Given the description of an element on the screen output the (x, y) to click on. 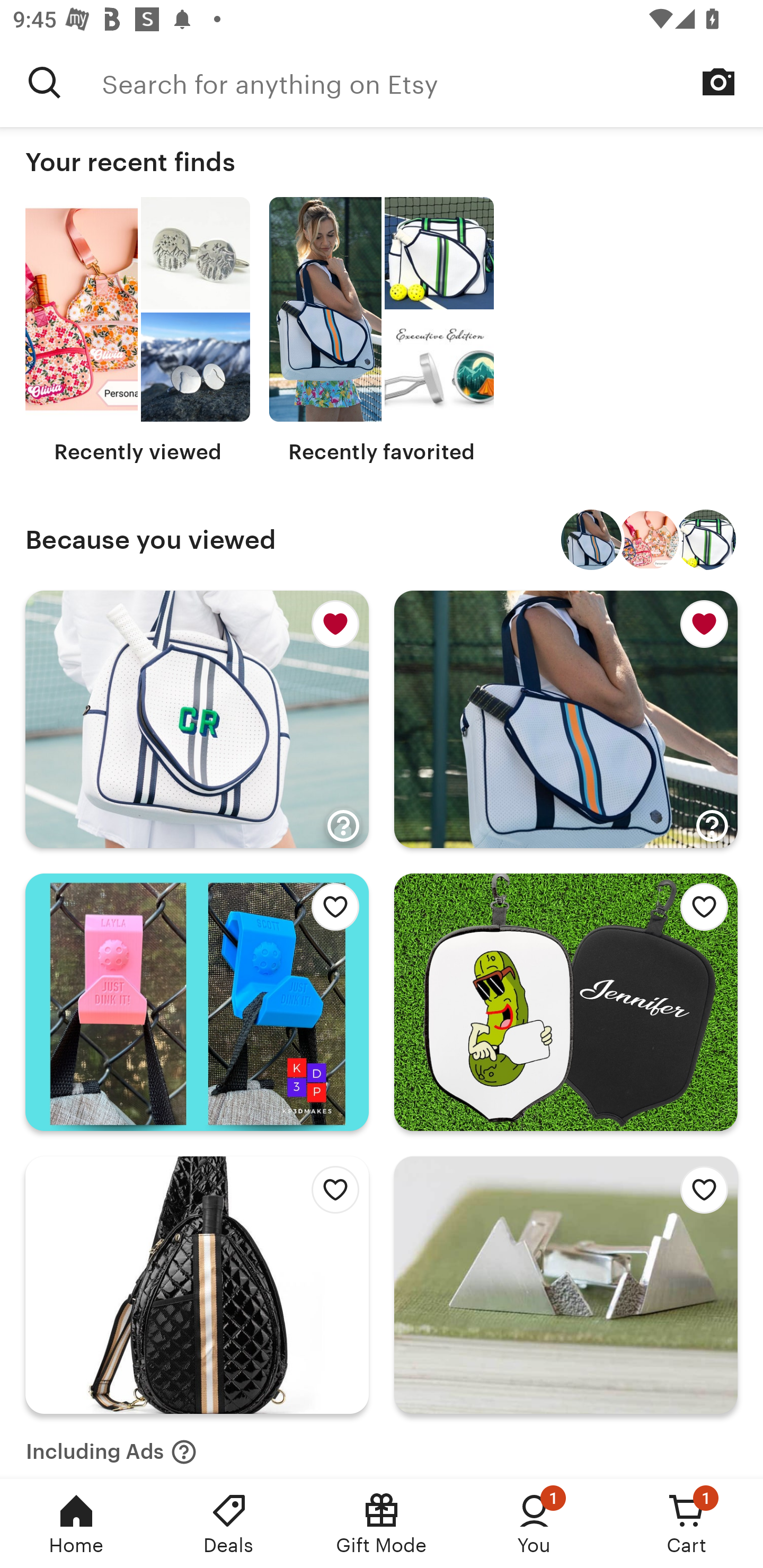
Search for anything on Etsy (44, 82)
Search by image (718, 81)
Search for anything on Etsy (432, 82)
Recently viewed (137, 330)
Recently favorited (381, 330)
Add MS Pickle Paddle Cover to favorites (699, 911)
Including Ads (111, 1446)
Deals (228, 1523)
Gift Mode (381, 1523)
You, 1 new notification You (533, 1523)
Cart, 1 new notification Cart (686, 1523)
